Given the description of an element on the screen output the (x, y) to click on. 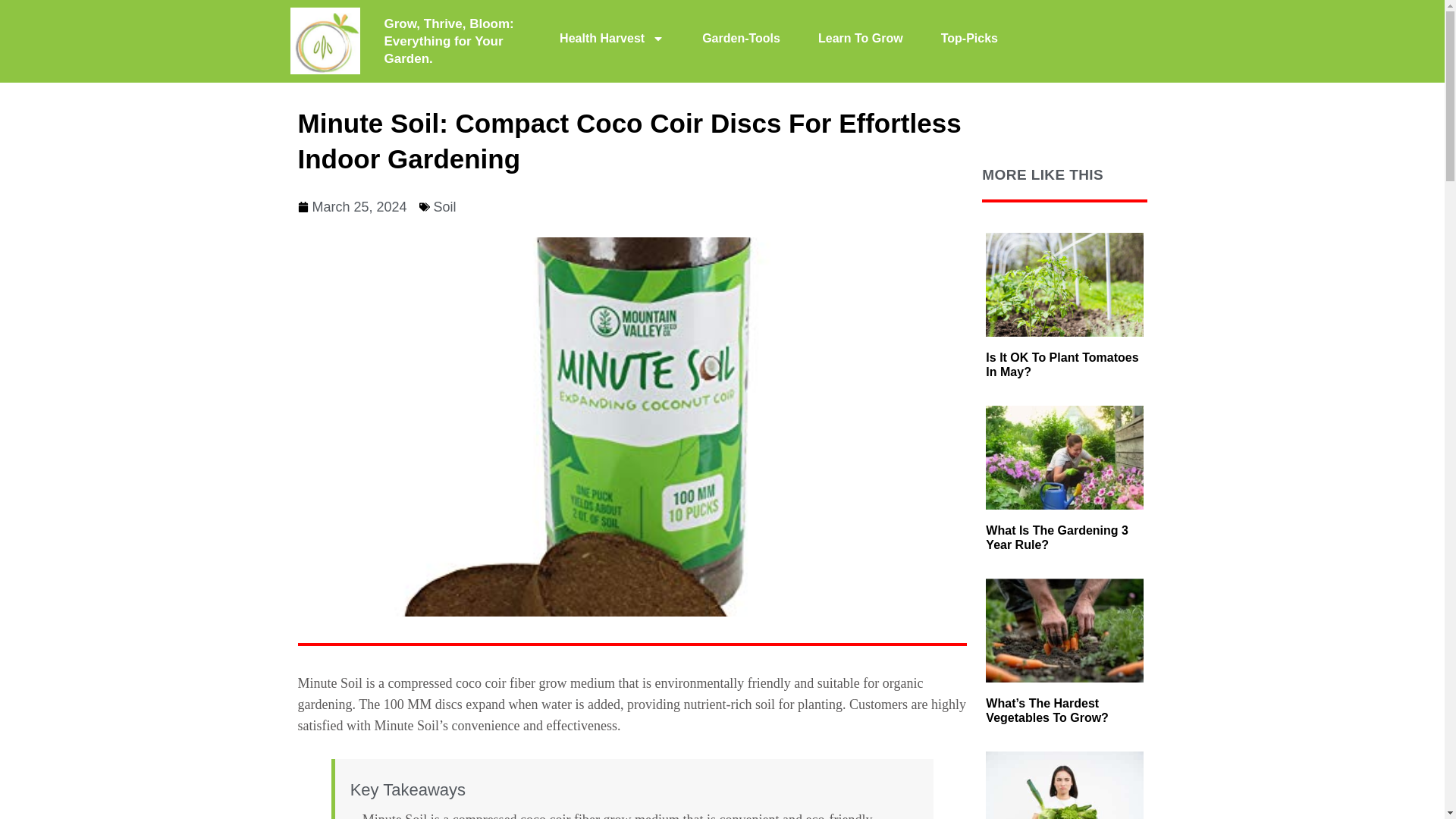
Garden-Tools (740, 38)
Health Harvest (611, 38)
Grow, Thrive, Bloom: Everything for Your Garden. (448, 41)
Learn To Grow (860, 38)
Top-Picks (968, 38)
